Given the description of an element on the screen output the (x, y) to click on. 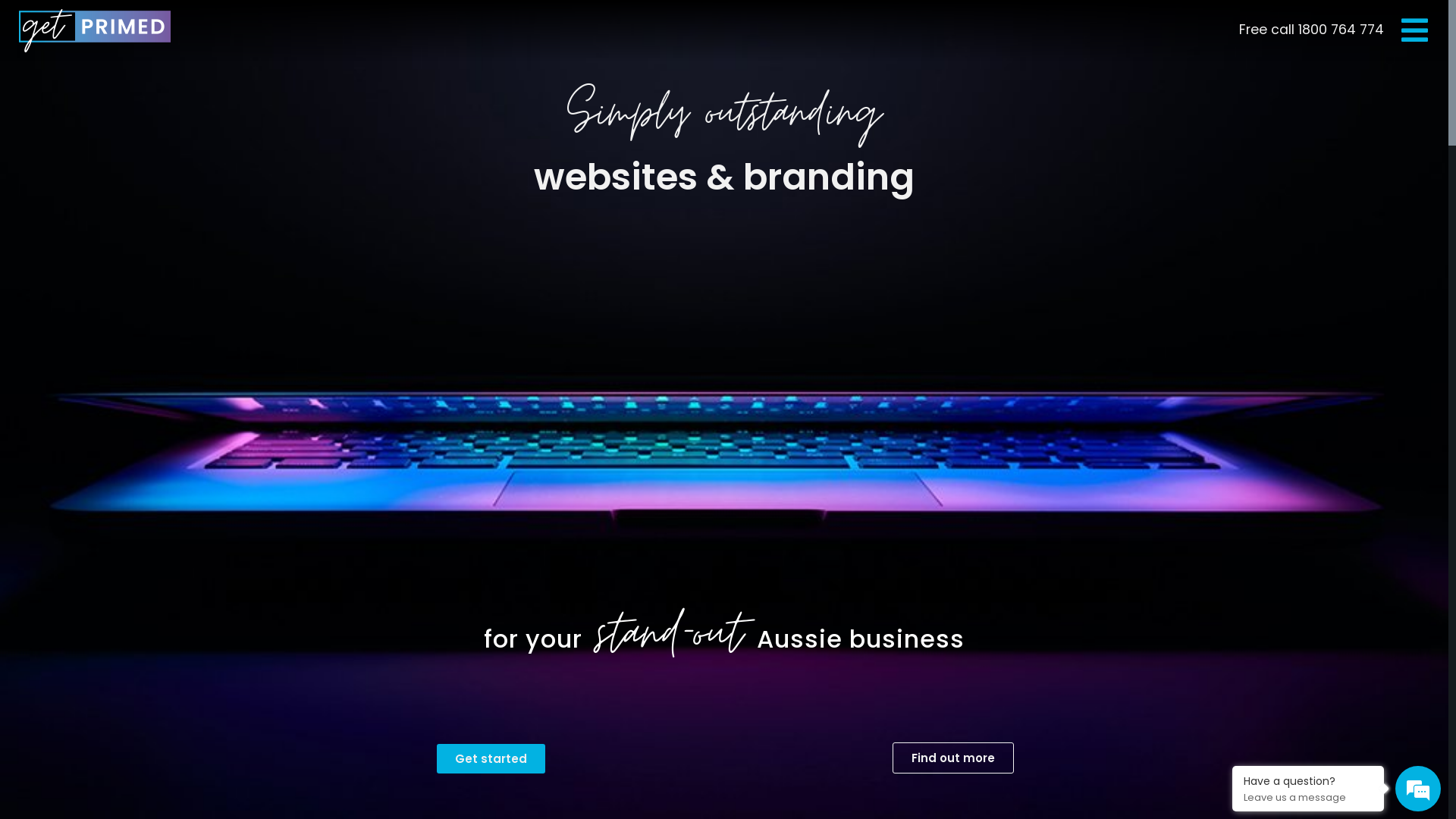
getprimed-blue-w-1000 Element type: hover (94, 30)
Find out more Element type: text (952, 757)
Get started Element type: text (490, 758)
